Given the description of an element on the screen output the (x, y) to click on. 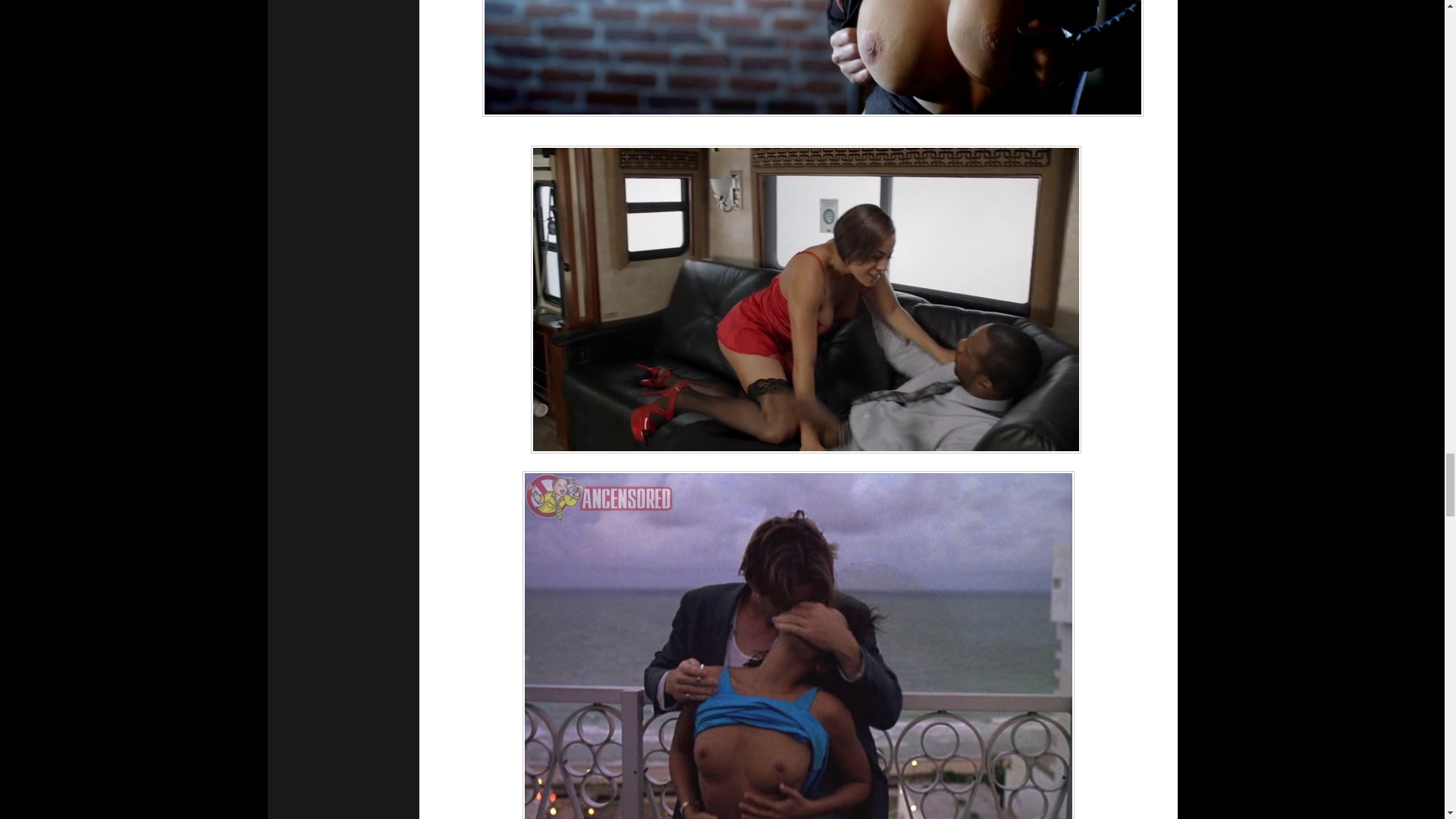
Daphne Duplaix naked 94 (811, 58)
